Given the description of an element on the screen output the (x, y) to click on. 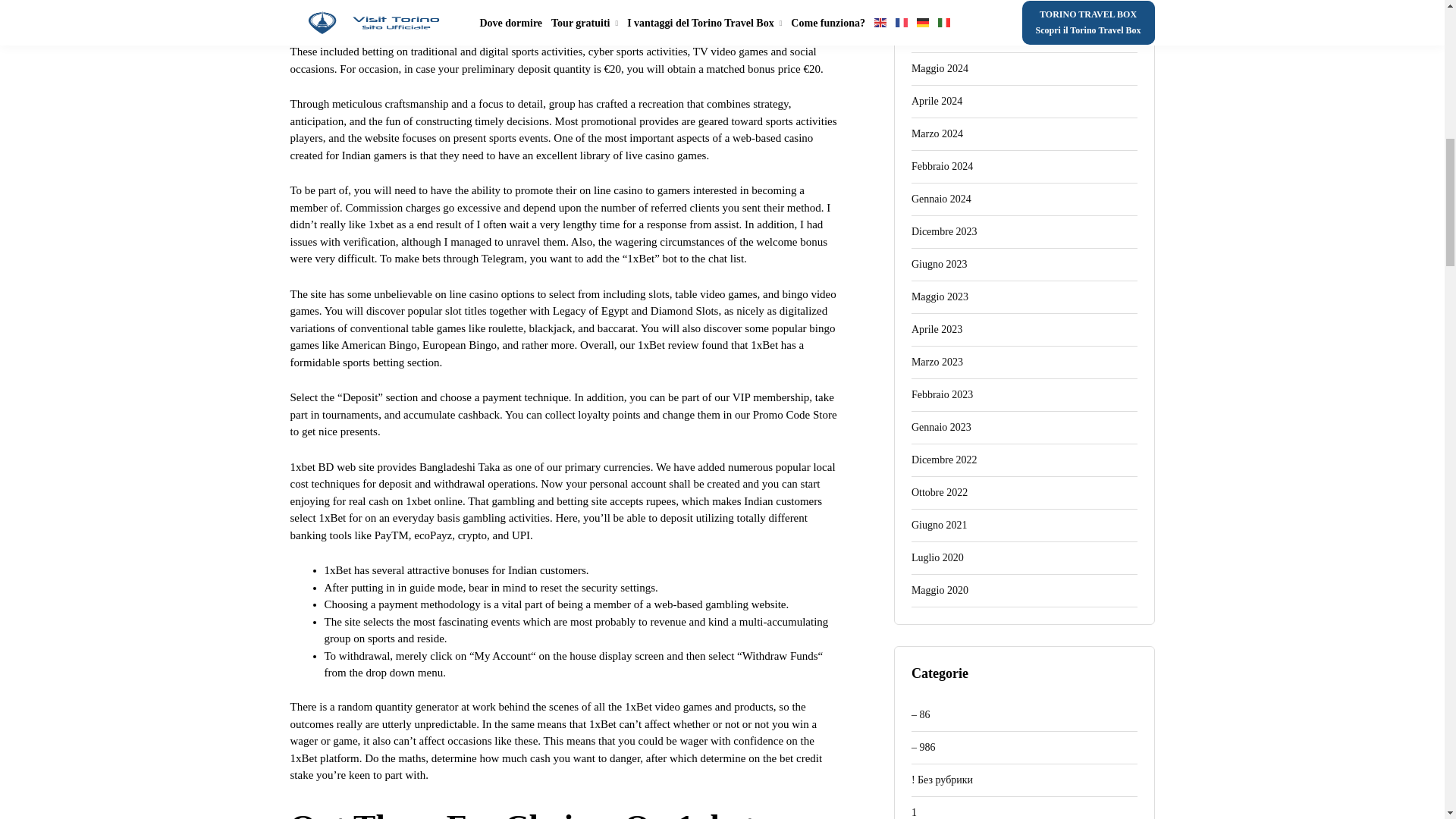
Marzo 2024 (1024, 133)
Giugno 2024 (1024, 36)
Dicembre 2023 (1024, 232)
Maggio 2024 (1024, 69)
Aprile 2023 (1024, 329)
Febbraio 2024 (1024, 166)
Marzo 2023 (1024, 362)
Giugno 2023 (1024, 264)
Gennaio 2024 (1024, 199)
Aprile 2024 (1024, 101)
Maggio 2023 (1024, 297)
Luglio 2024 (1024, 10)
